Given the description of an element on the screen output the (x, y) to click on. 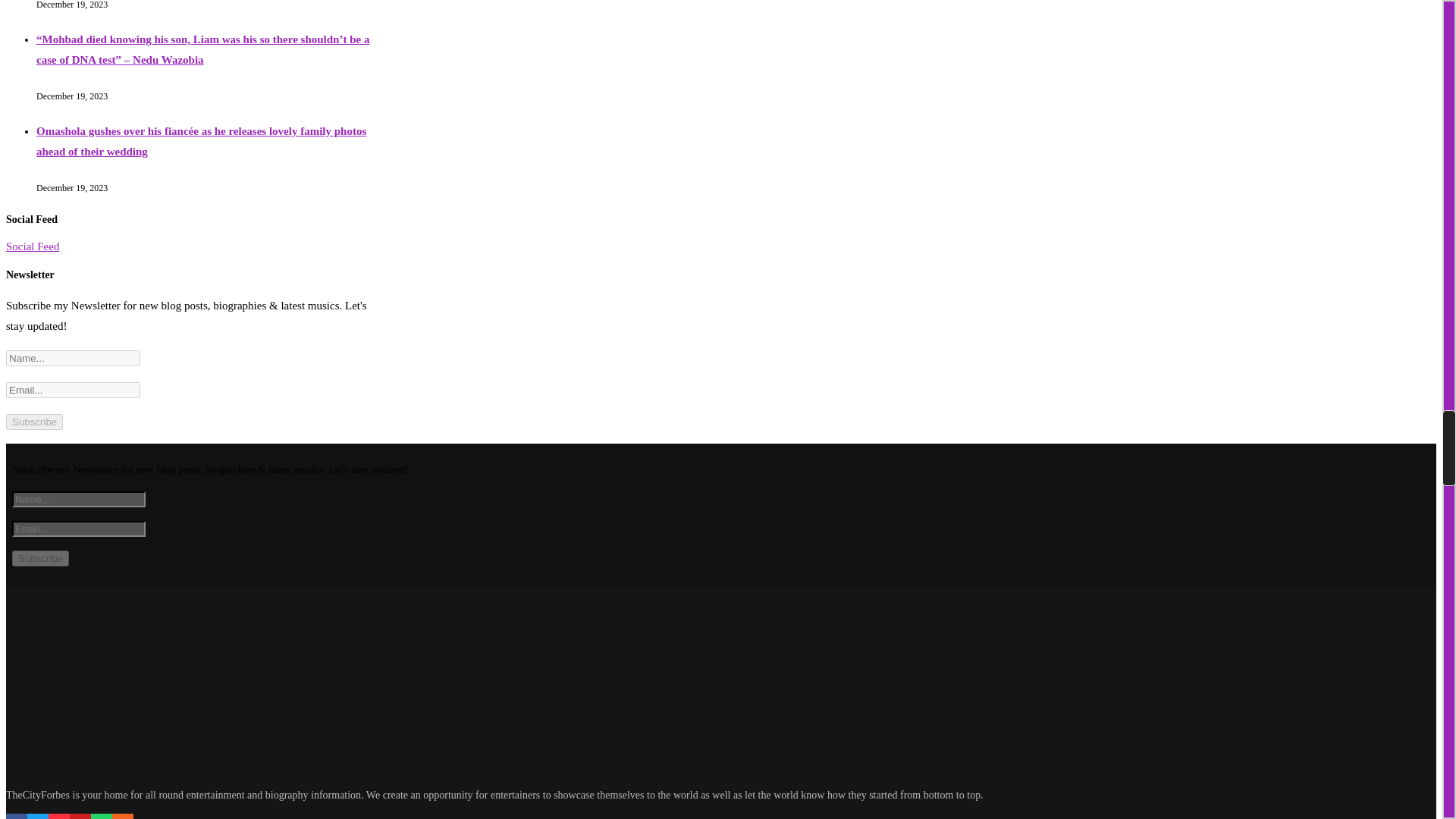
Subscribe (33, 421)
Subscribe (39, 558)
